Given the description of an element on the screen output the (x, y) to click on. 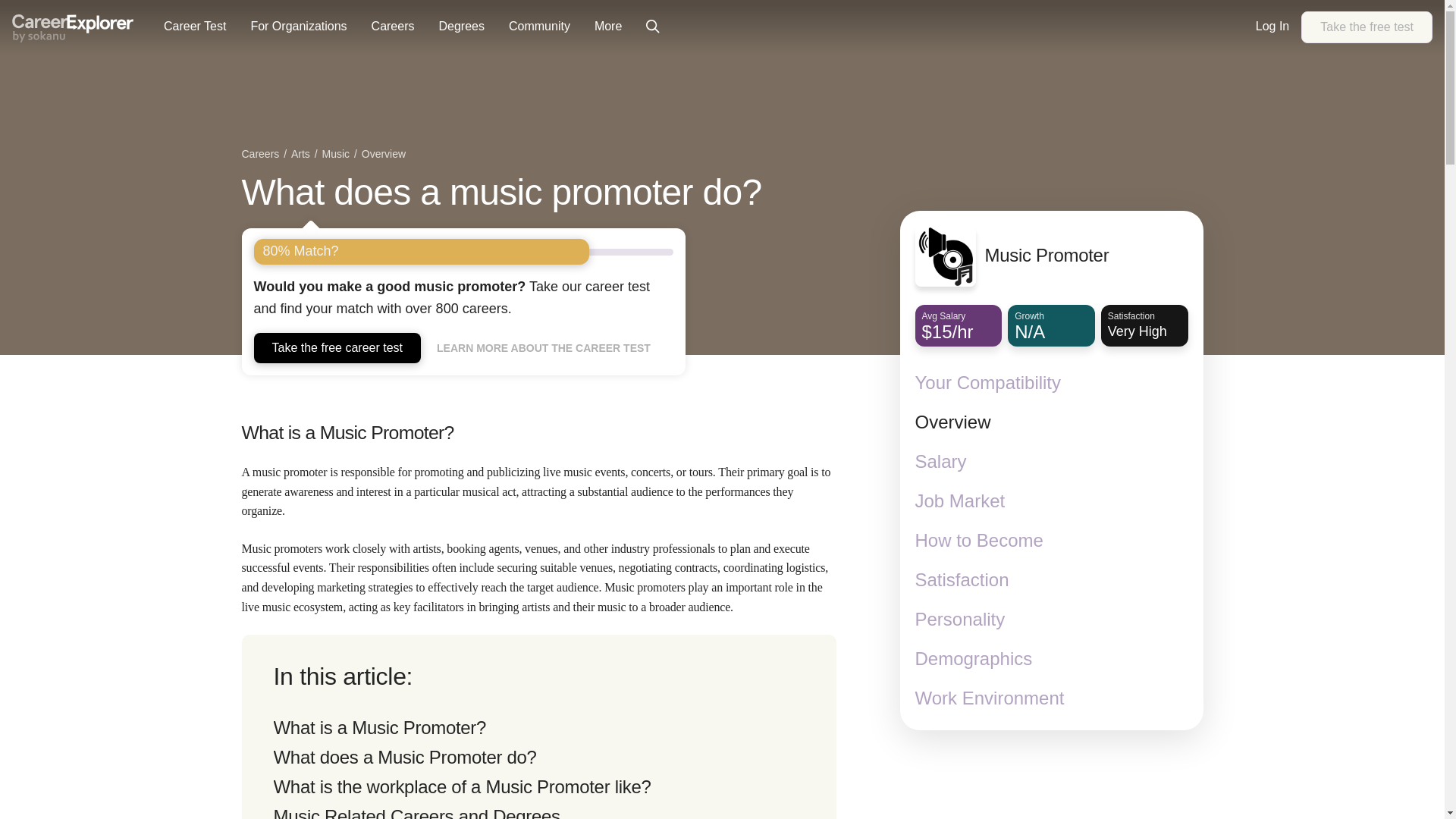
Careers (261, 154)
Community (539, 27)
For Organizations (298, 27)
Table of contents (538, 726)
Career Test (1366, 26)
Arts (194, 27)
Unfortunately, we don't have enough data for this (302, 154)
Music (1050, 326)
CareerExplorer (336, 154)
